Given the description of an element on the screen output the (x, y) to click on. 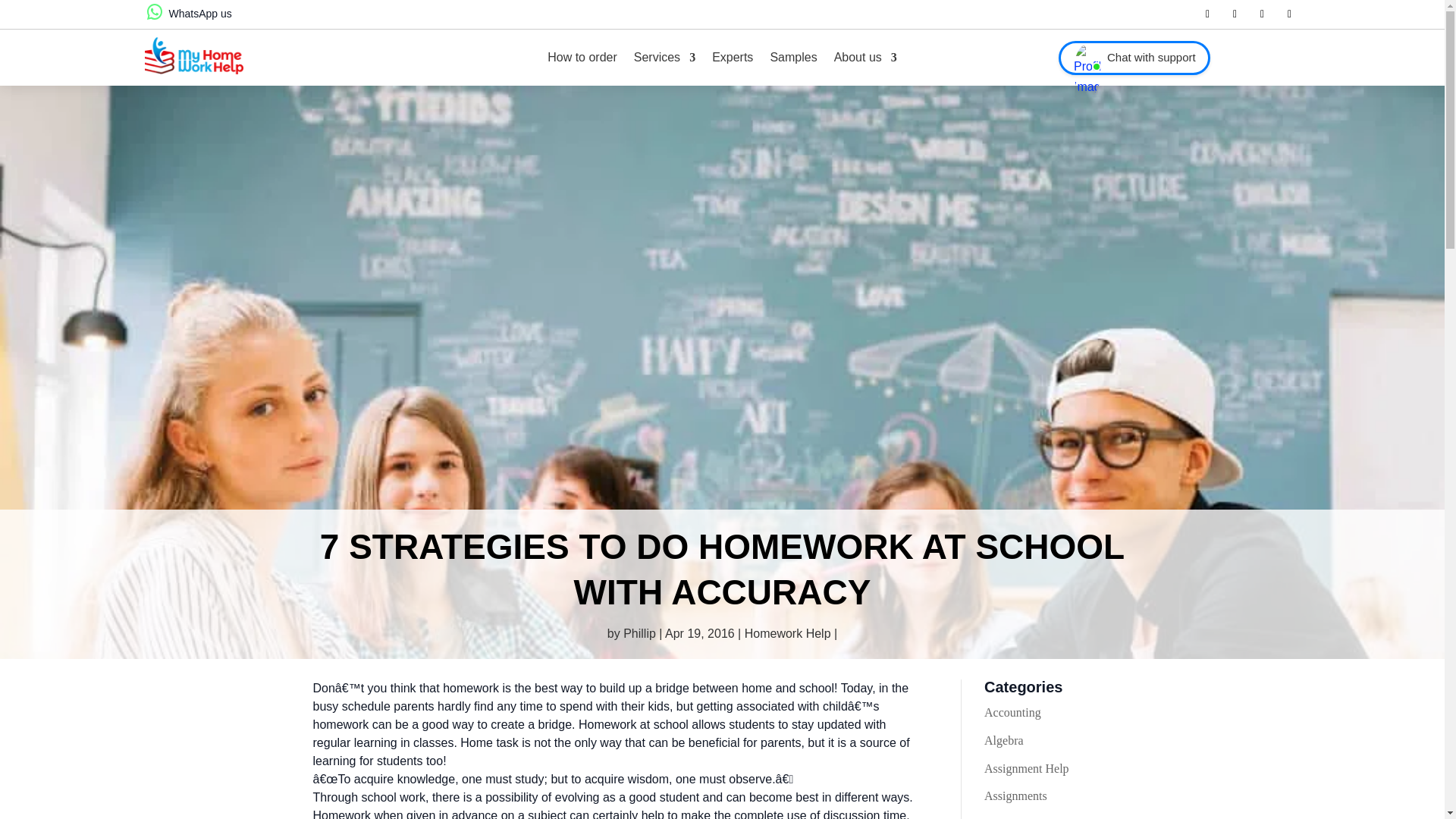
Services (664, 57)
Follow on LinkedIn (1261, 14)
Follow on Facebook (1206, 14)
Hero-Logo (193, 55)
Follow on Instagram (1289, 14)
How to order (582, 57)
Posts by Phillip (639, 633)
Follow on X (1234, 14)
